Given the description of an element on the screen output the (x, y) to click on. 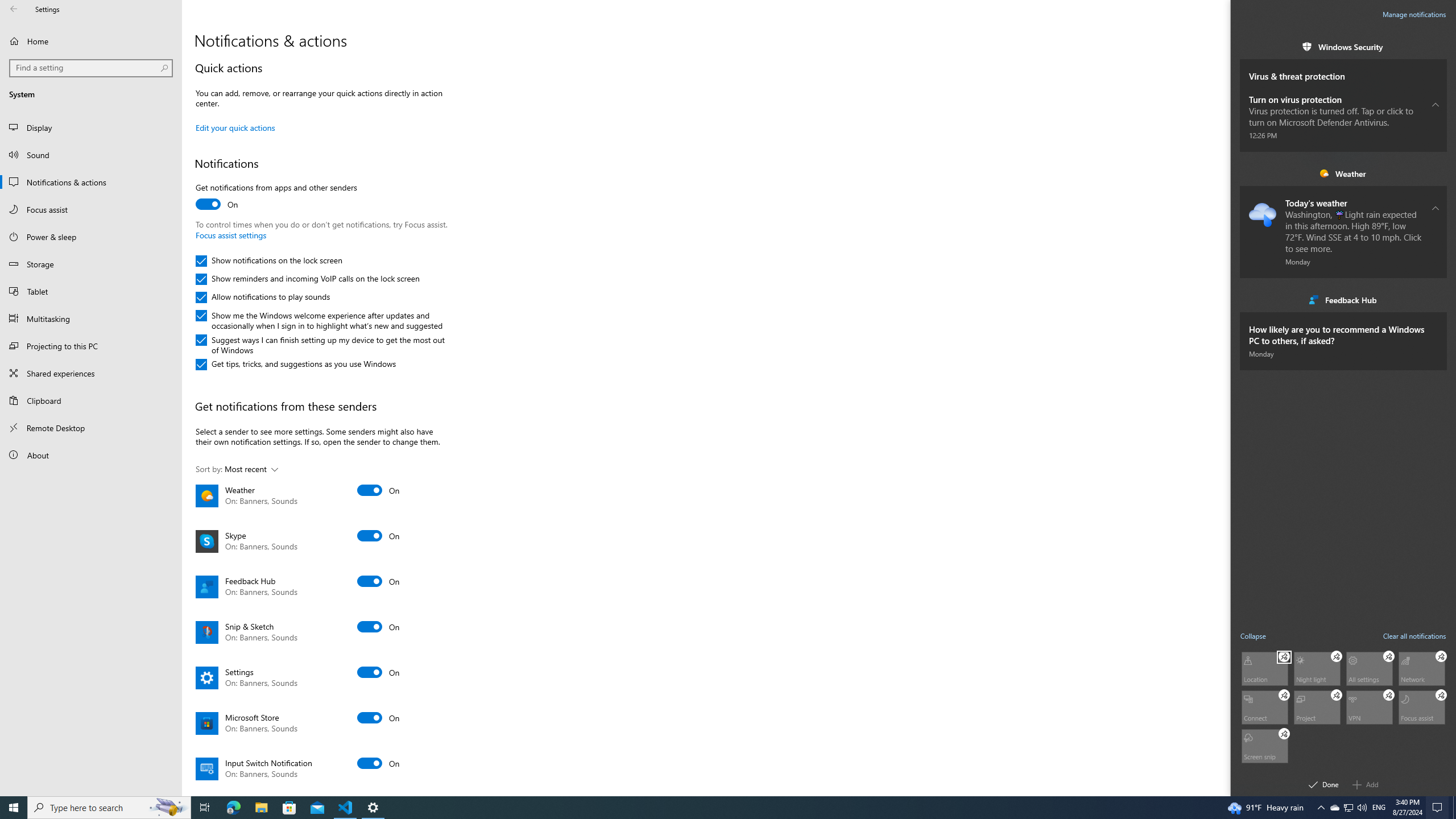
Network Unpin (1441, 655)
All settings (1368, 667)
Running applications (706, 807)
Search highlights icon opens search home window (167, 807)
VPN (1368, 706)
Manage notifications (1414, 14)
Microsoft Store (289, 807)
Clear all notifications for Feedback Hub (1435, 299)
Screen snip (1264, 745)
Visual Studio Code - 1 running window (345, 807)
Clear all notifications for Windows Security (1435, 46)
Network (1421, 667)
